Given the description of an element on the screen output the (x, y) to click on. 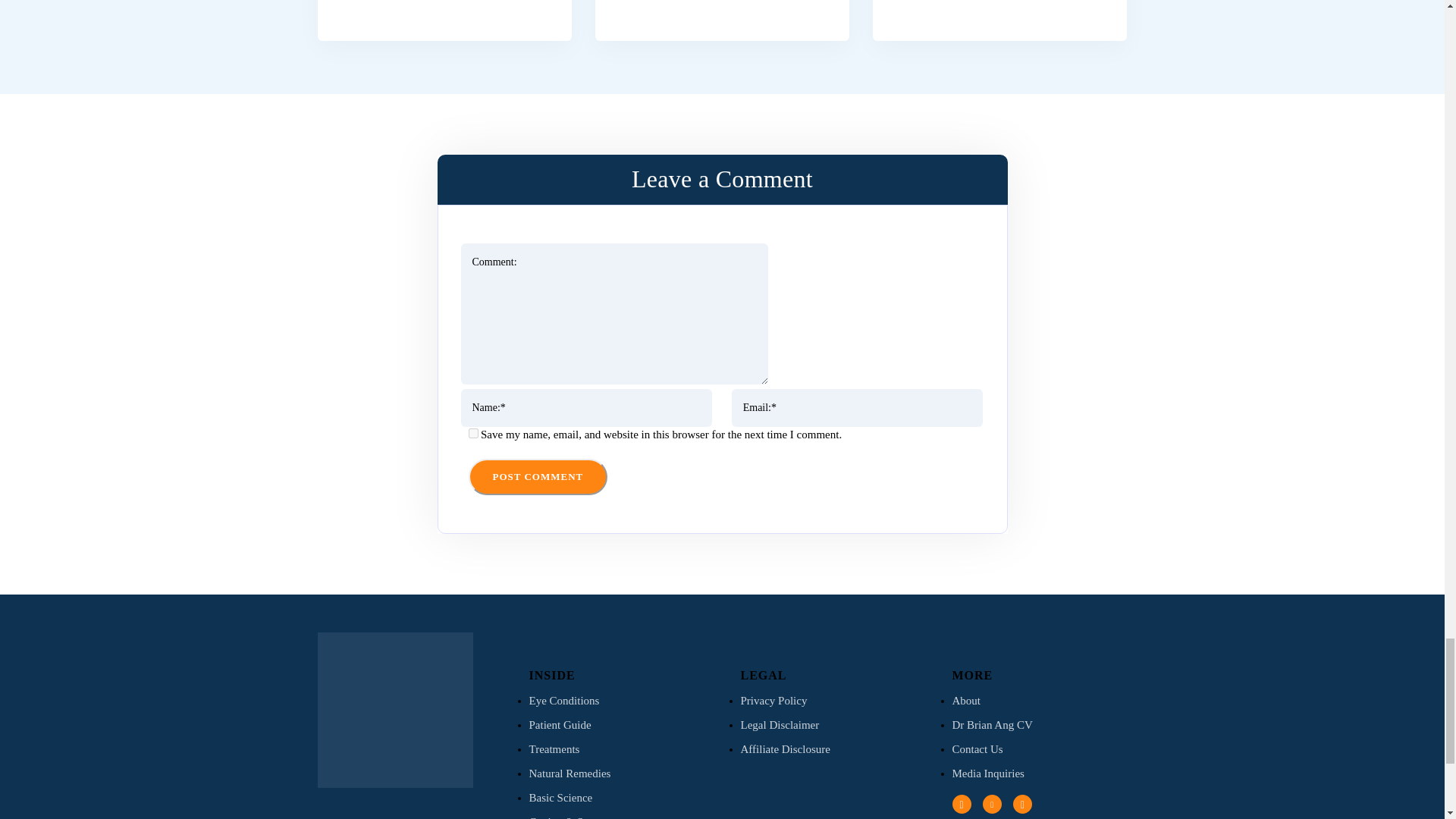
yes (473, 433)
Post Comment (538, 476)
